Given the description of an element on the screen output the (x, y) to click on. 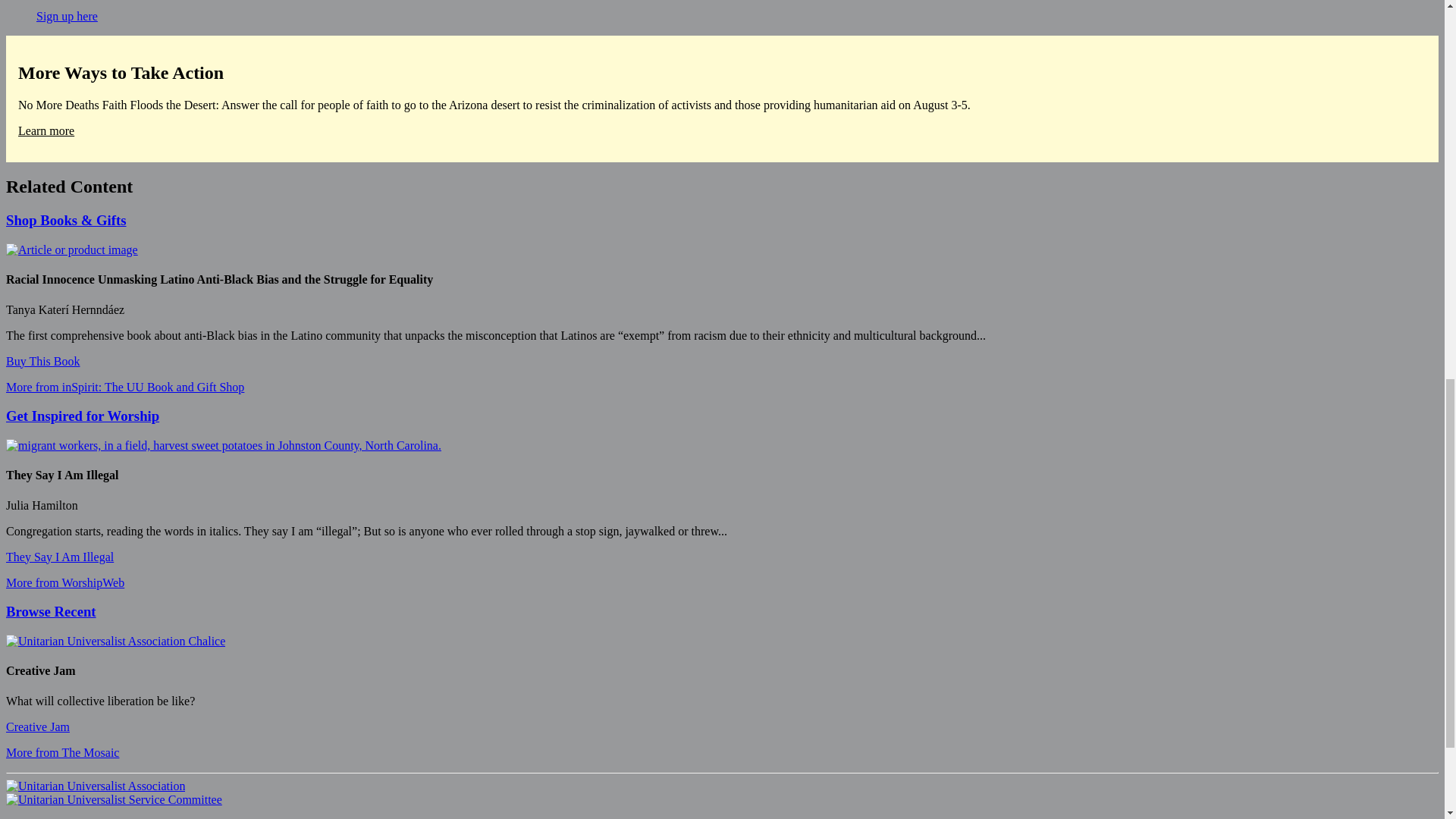
Sign up here (66, 15)
Copyright UUA (115, 641)
Learn more (45, 130)
Unitarian Universalist Service Committee Home (113, 799)
More from The Mosaic (62, 752)
Creative Jam (37, 726)
More from WorshipWeb (64, 582)
More from inSpirit: The UU Book and Gift Shop (124, 386)
Buy This Book (42, 360)
They Say I Am Illegal (59, 556)
